Given the description of an element on the screen output the (x, y) to click on. 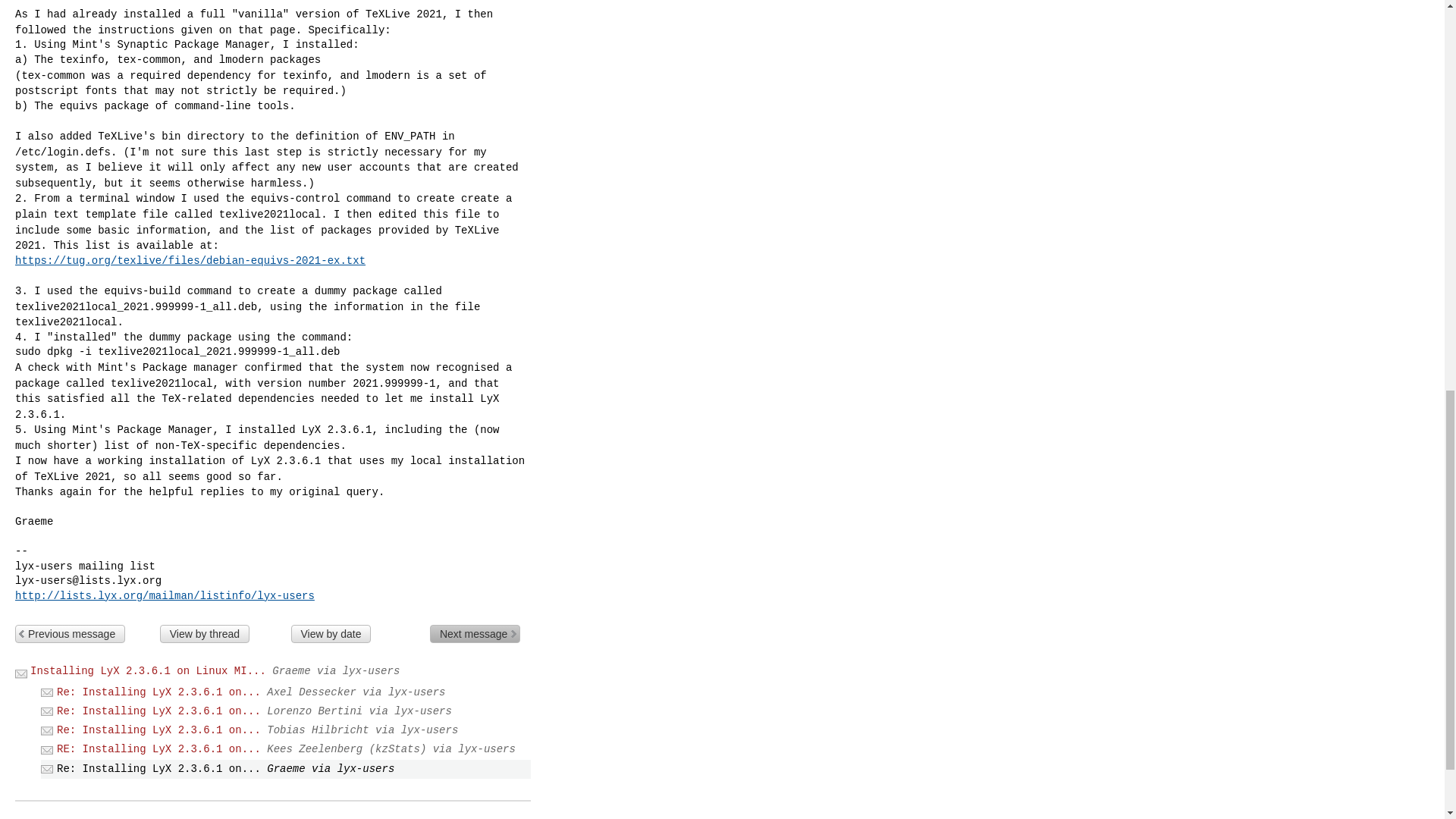
Previous message (69, 633)
View by date (331, 633)
Re: Installing LyX 2.3.6.1 on... (158, 711)
Re: Installing LyX 2.3.6.1 on... (158, 692)
Next message (474, 633)
Installing LyX 2.3.6.1 on Linux MI... (148, 671)
View by thread (204, 633)
Re: Installing LyX 2.3.6.1 on... (158, 729)
RE: Installing LyX 2.3.6.1 on... (158, 748)
